Given the description of an element on the screen output the (x, y) to click on. 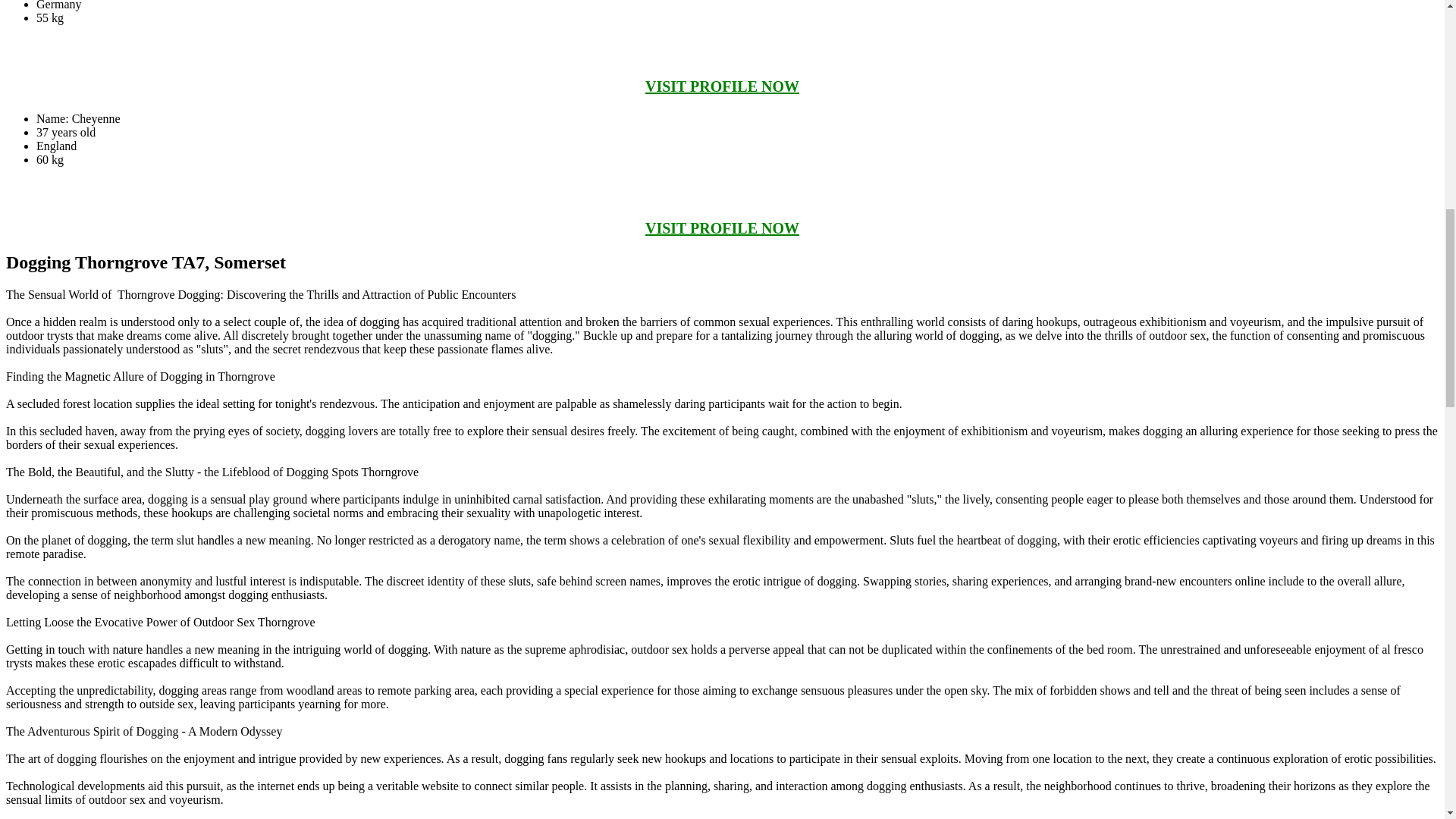
VISIT PROFILE NOW (722, 228)
VISIT PROFILE NOW (722, 86)
